Given the description of an element on the screen output the (x, y) to click on. 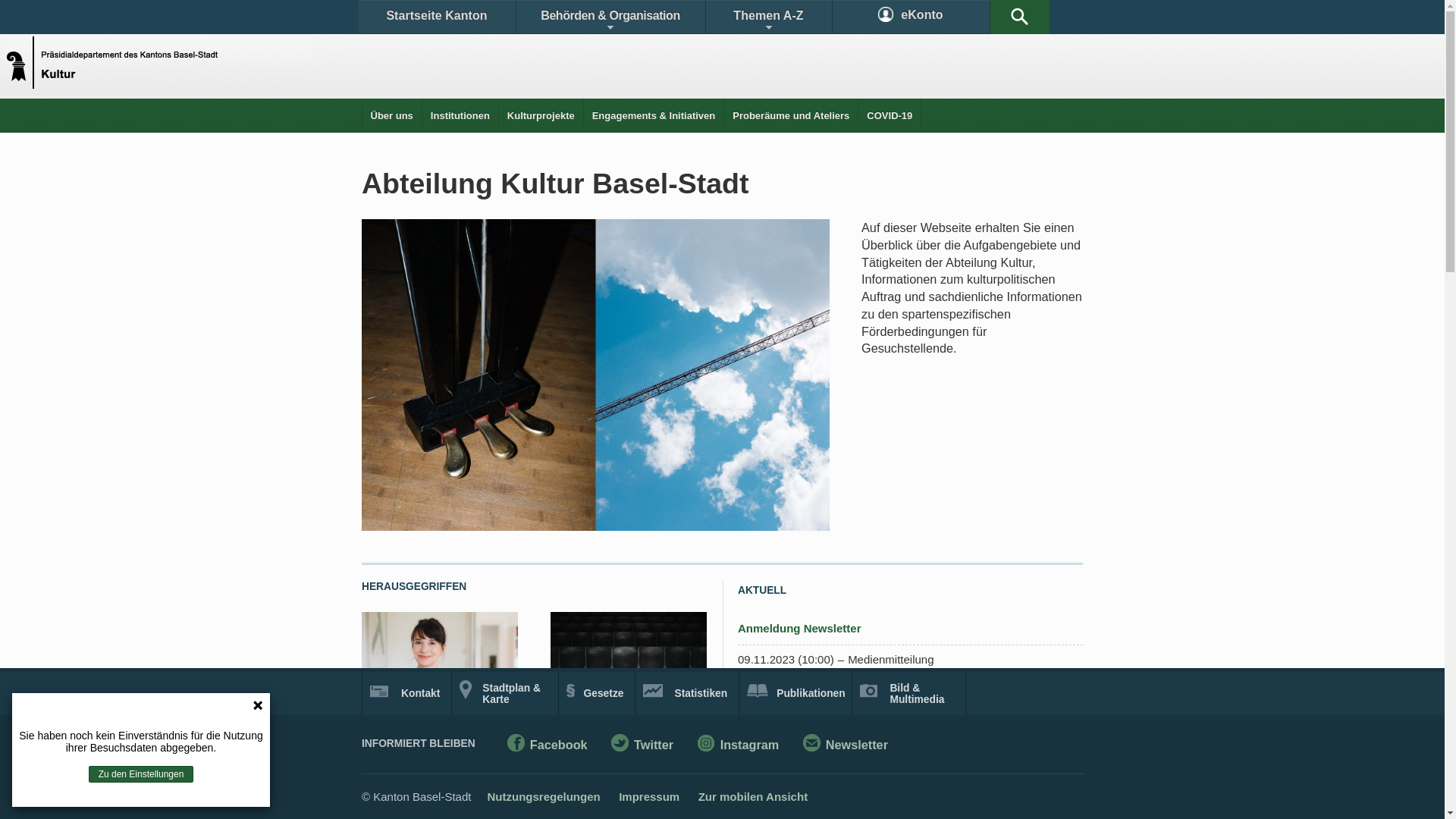
Engagements & Initiativen Element type: text (653, 115)
Instagram Element type: text (738, 746)
Publikationen Element type: text (795, 693)
Statistiken Element type: text (687, 693)
Themen A-Z Element type: text (768, 17)
Kontakt Element type: text (406, 693)
Newsletter Element type: text (845, 746)
Anmeldung Newsletter Element type: text (799, 627)
COVID-19 Element type: text (889, 115)
Twitter Element type: text (642, 746)
Nutzungsregelungen Element type: text (542, 796)
Facebook Element type: text (547, 746)
Kulturprojekte Element type: text (540, 115)
Zur mobilen Ansicht Element type: text (752, 796)
Impressum Element type: text (648, 796)
Stadtplan & Karte Element type: text (504, 693)
Bild & Multimedia Element type: text (908, 693)
Gesetze Element type: text (597, 693)
Startseite Kanton Element type: text (435, 17)
eKonto Element type: text (910, 17)
Institutionen Element type: text (460, 115)
Zu den Einstellungen Element type: text (141, 773)
